Given the description of an element on the screen output the (x, y) to click on. 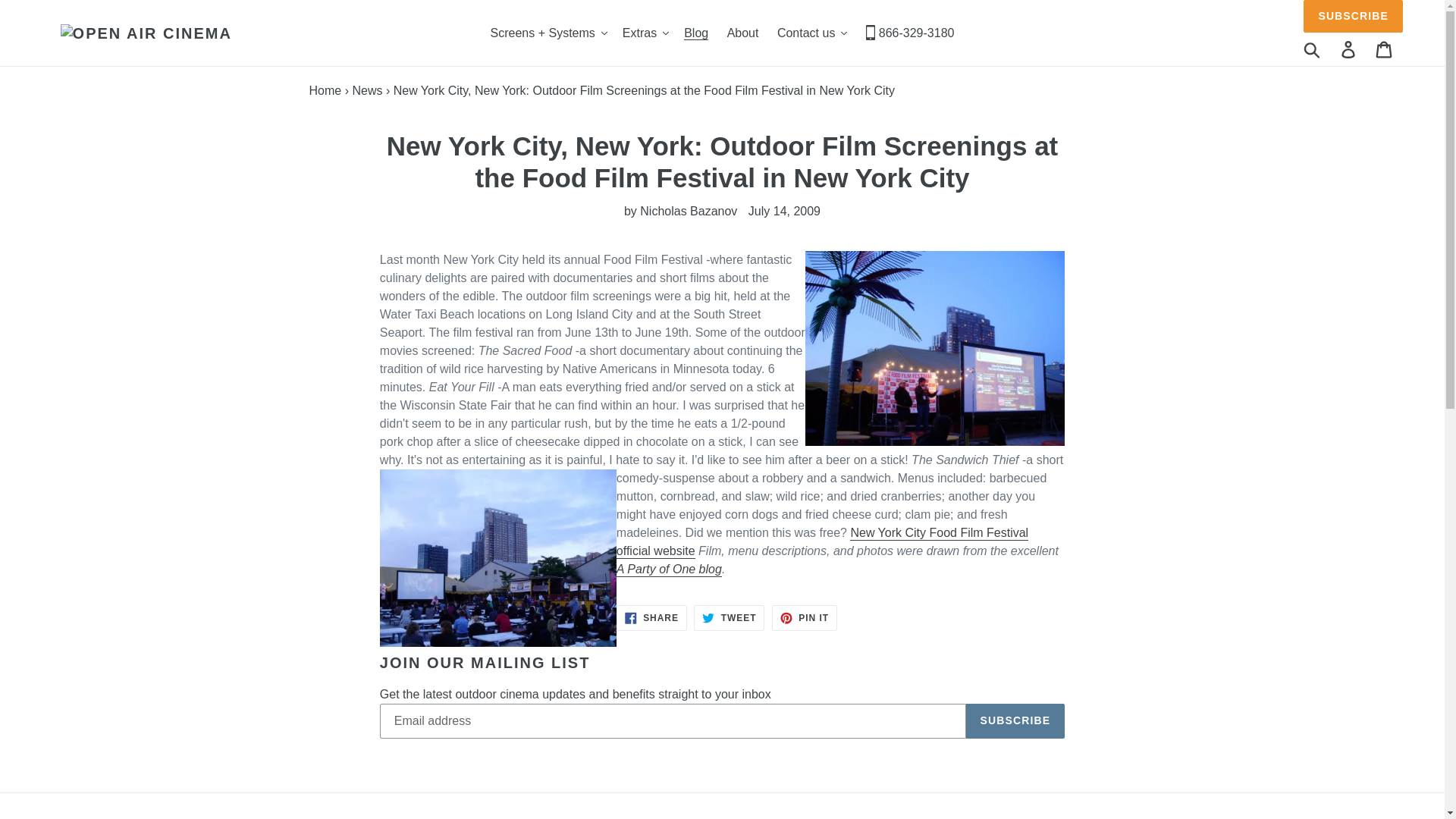
SUBSCRIBE (1353, 16)
Home (325, 90)
Cart (1385, 49)
Log in (1349, 49)
About (743, 33)
Submit (1313, 49)
866-329-3180 (910, 33)
Blog (696, 33)
